Given the description of an element on the screen output the (x, y) to click on. 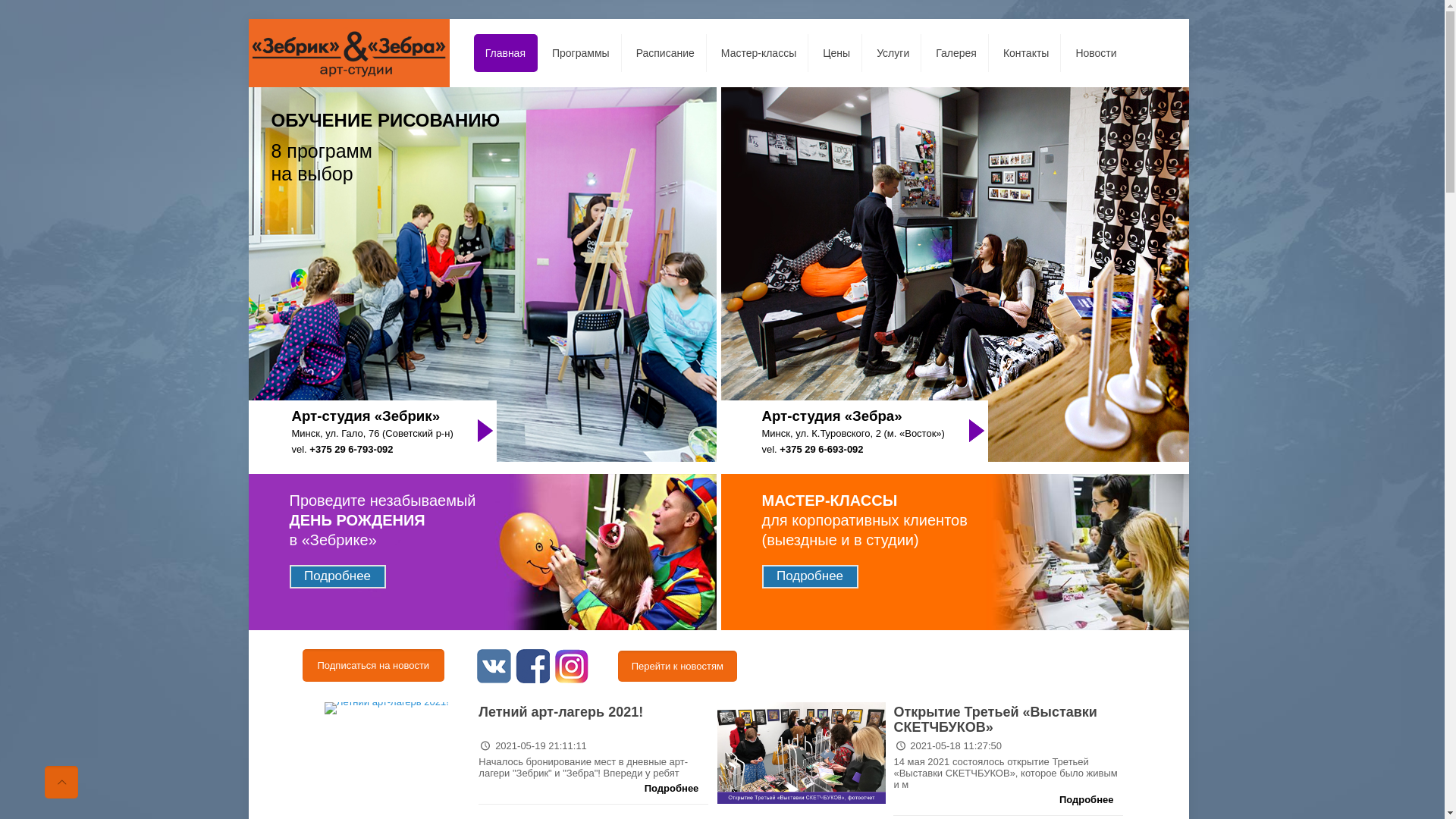
+375 29 6-693-092 Element type: text (820, 449)
zebra-art.by Element type: hover (348, 52)
+375 29 6-793-092 Element type: text (350, 449)
